Given the description of an element on the screen output the (x, y) to click on. 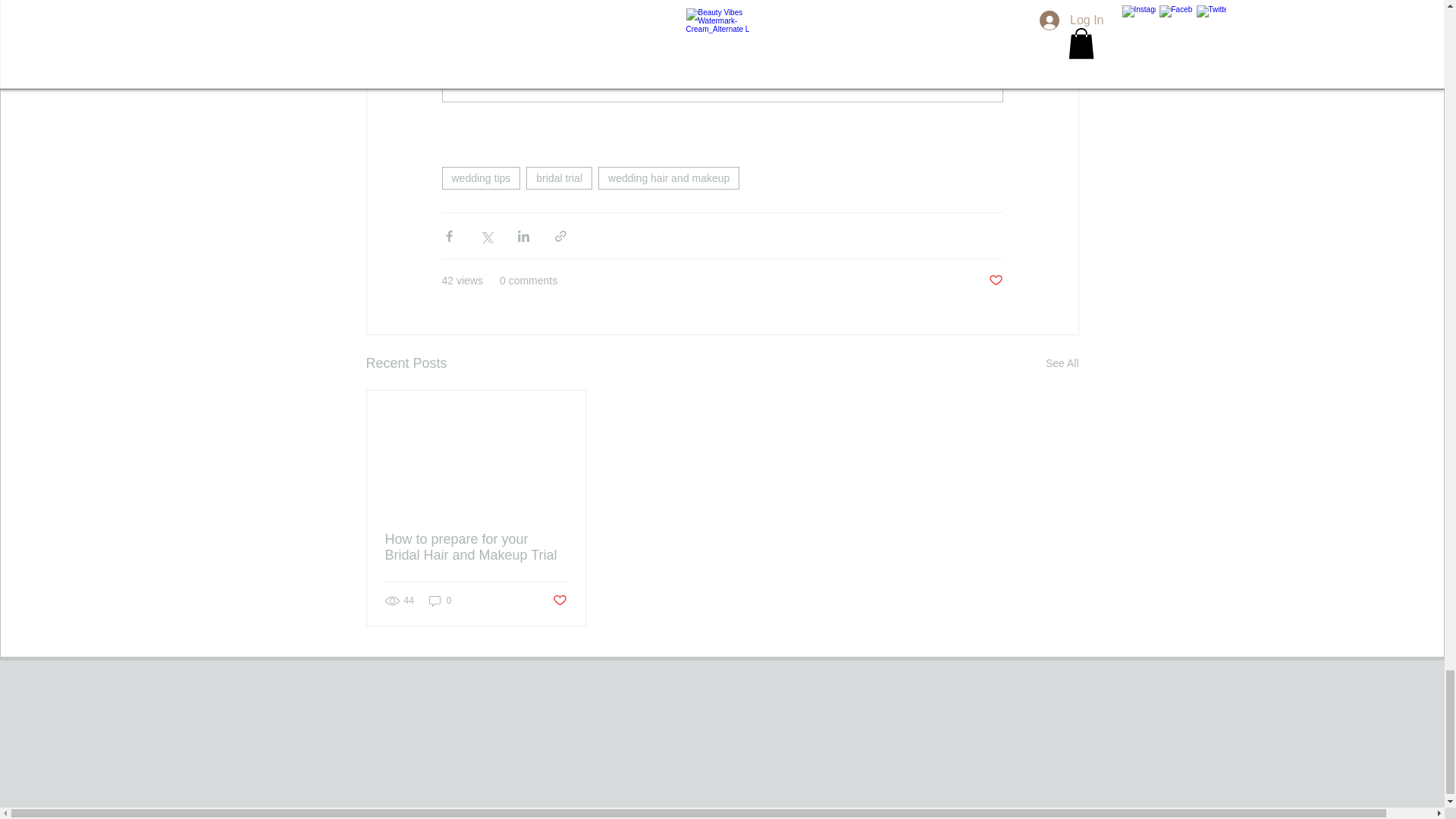
wedding hair and makeup (668, 178)
wedding tips (480, 178)
Post not marked as liked (558, 600)
bridal trial (558, 178)
Post not marked as liked (995, 280)
How to prepare for your Bridal Hair and Makeup Trial (476, 547)
See All (1061, 363)
0 (440, 600)
